Given the description of an element on the screen output the (x, y) to click on. 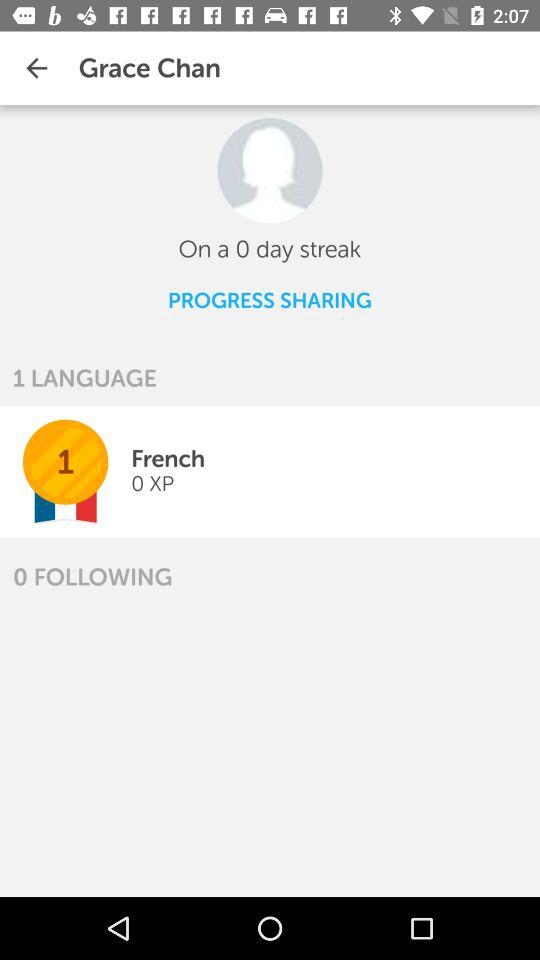
press the item below grace chan app (269, 170)
